Given the description of an element on the screen output the (x, y) to click on. 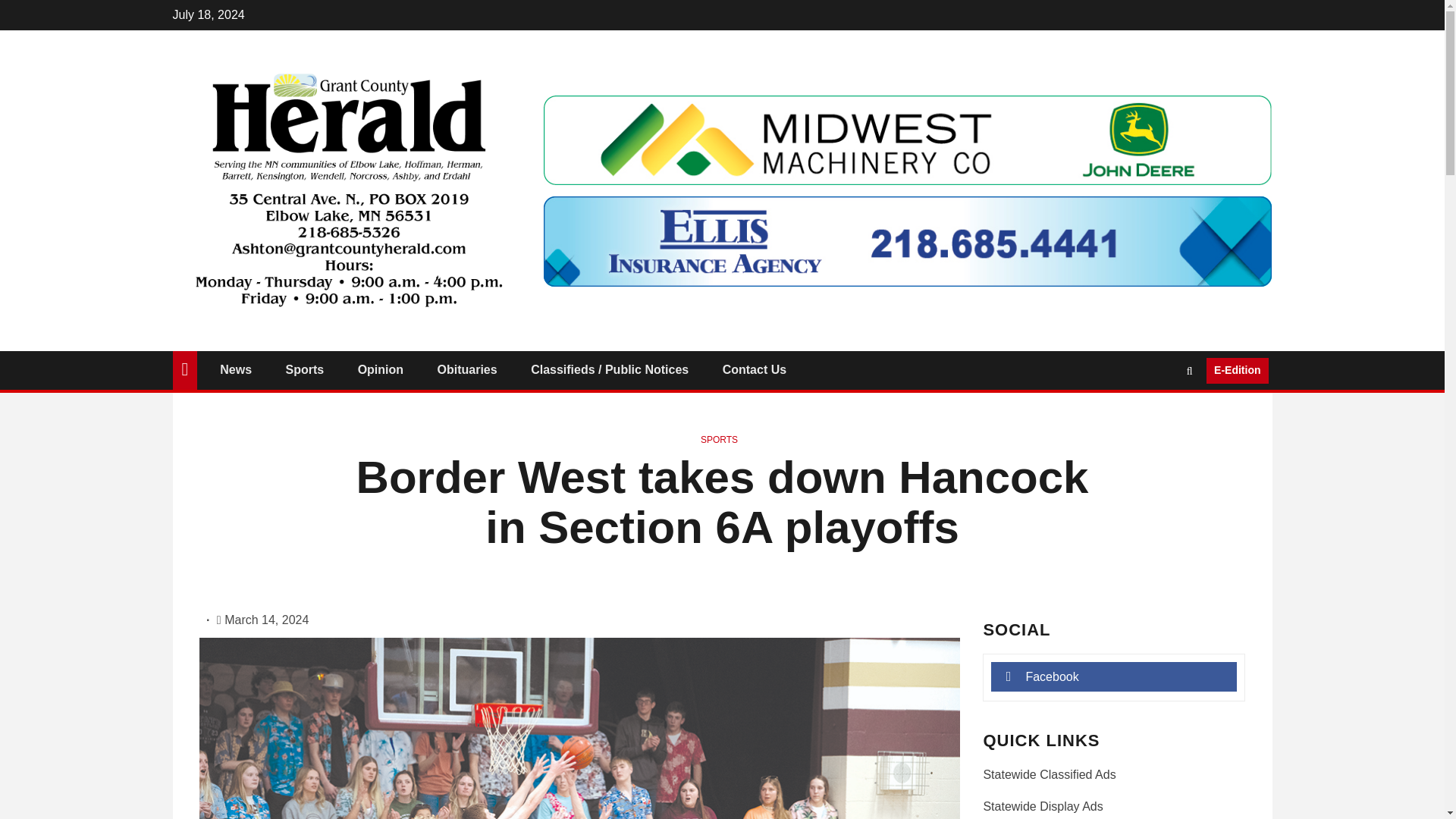
E-Edition (1237, 370)
Obituaries (467, 369)
News (235, 369)
Search (1160, 416)
SPORTS (719, 439)
Contact Us (754, 369)
Opinion (380, 369)
Sports (304, 369)
